Given the description of an element on the screen output the (x, y) to click on. 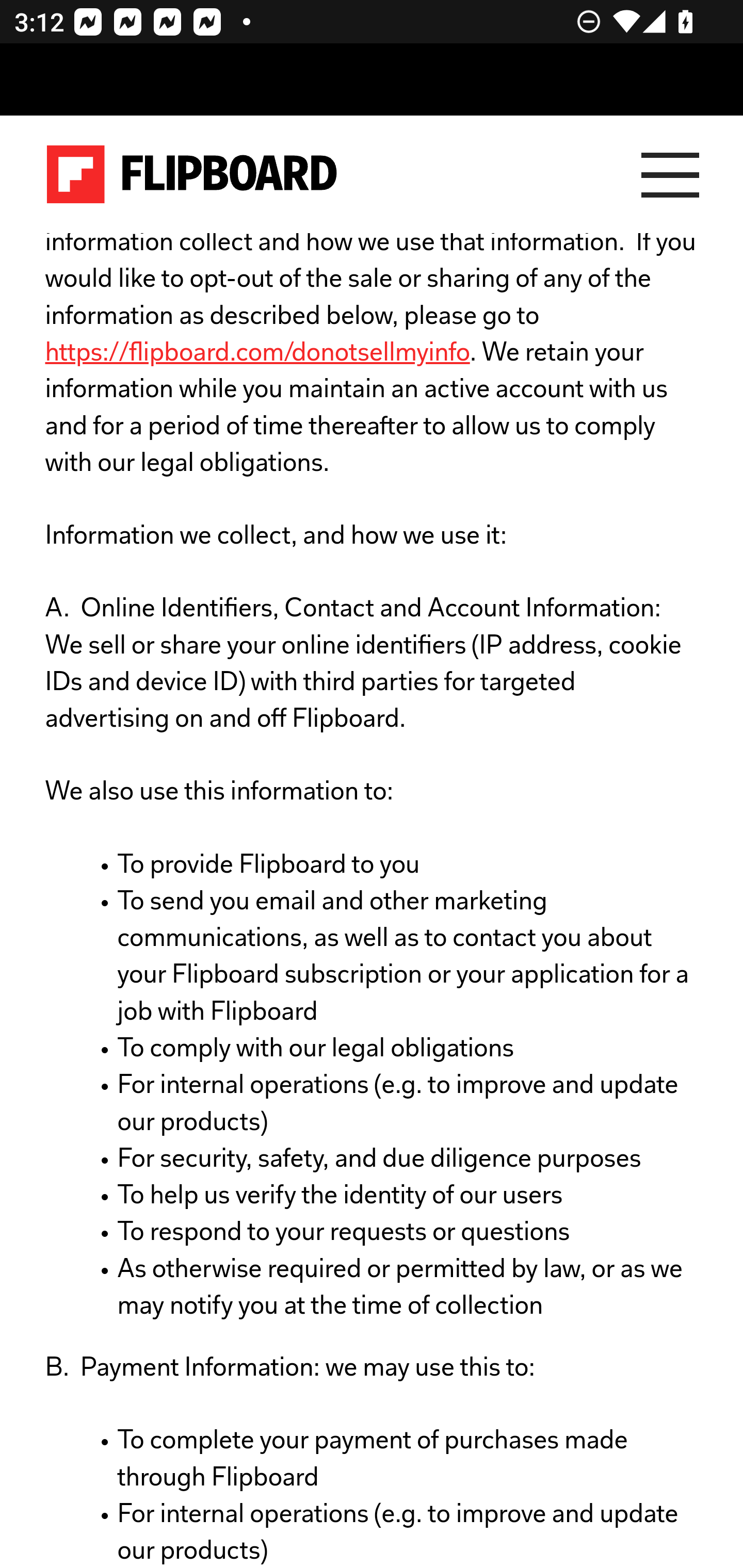
Flipboard Logo (192, 174)
https://flipboard.com/donotsellmyinfo (257, 354)
